Given the description of an element on the screen output the (x, y) to click on. 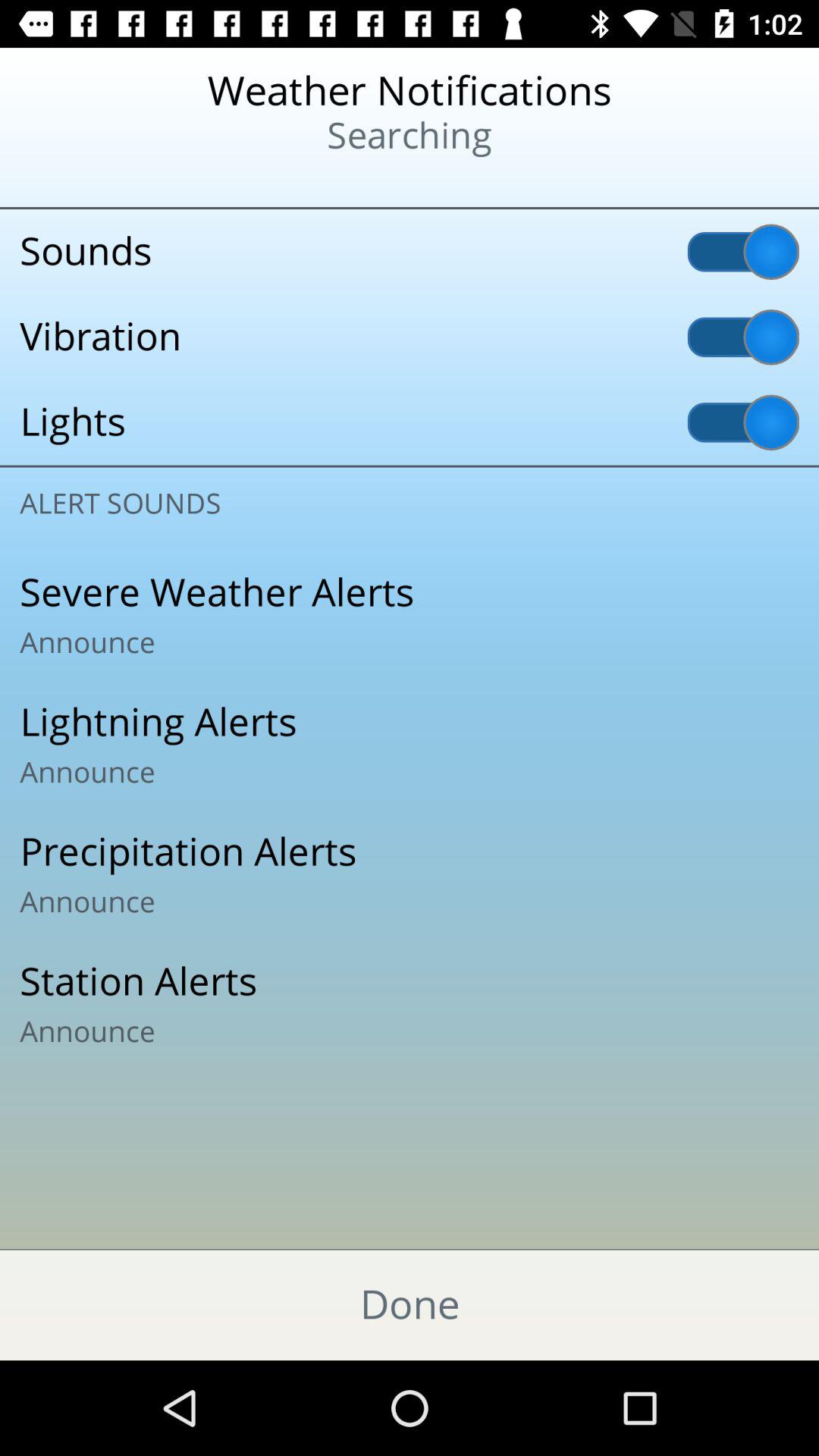
select item below the alert sounds (409, 615)
